Given the description of an element on the screen output the (x, y) to click on. 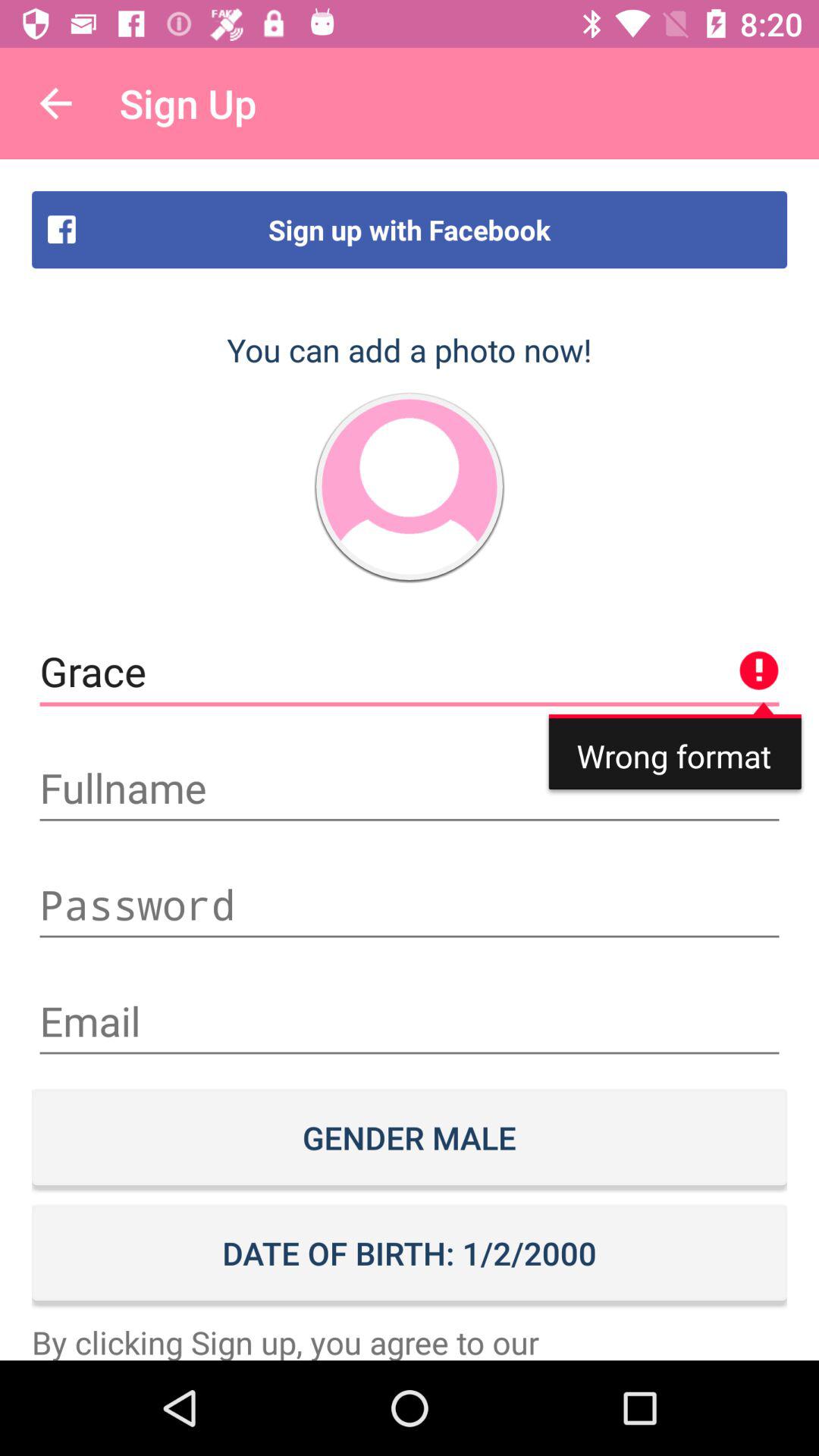
user photo (409, 487)
